Given the description of an element on the screen output the (x, y) to click on. 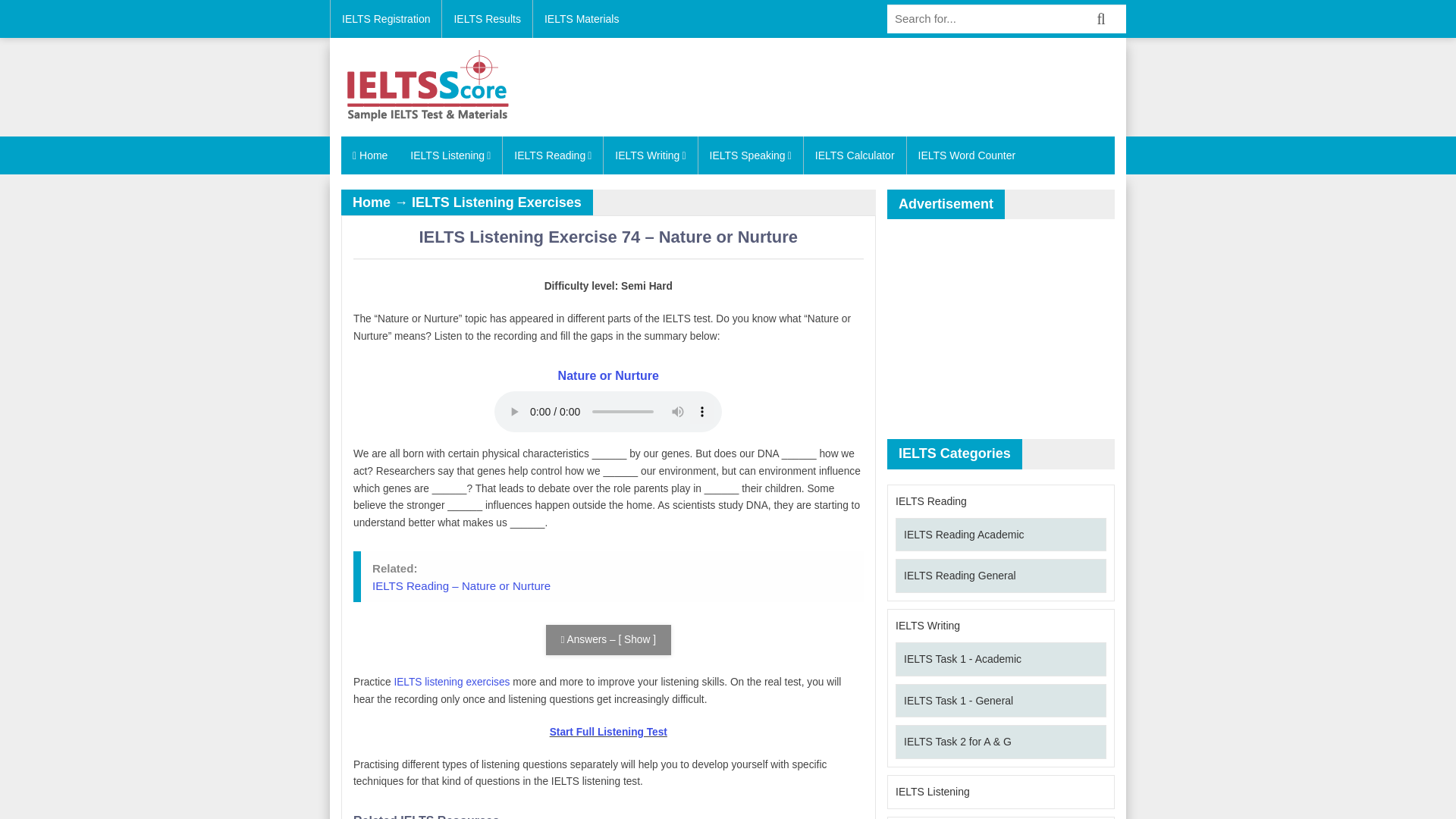
IELTS Materials (581, 18)
IELTS Results (486, 18)
IELTS Registration (385, 18)
Home (369, 155)
